Given the description of an element on the screen output the (x, y) to click on. 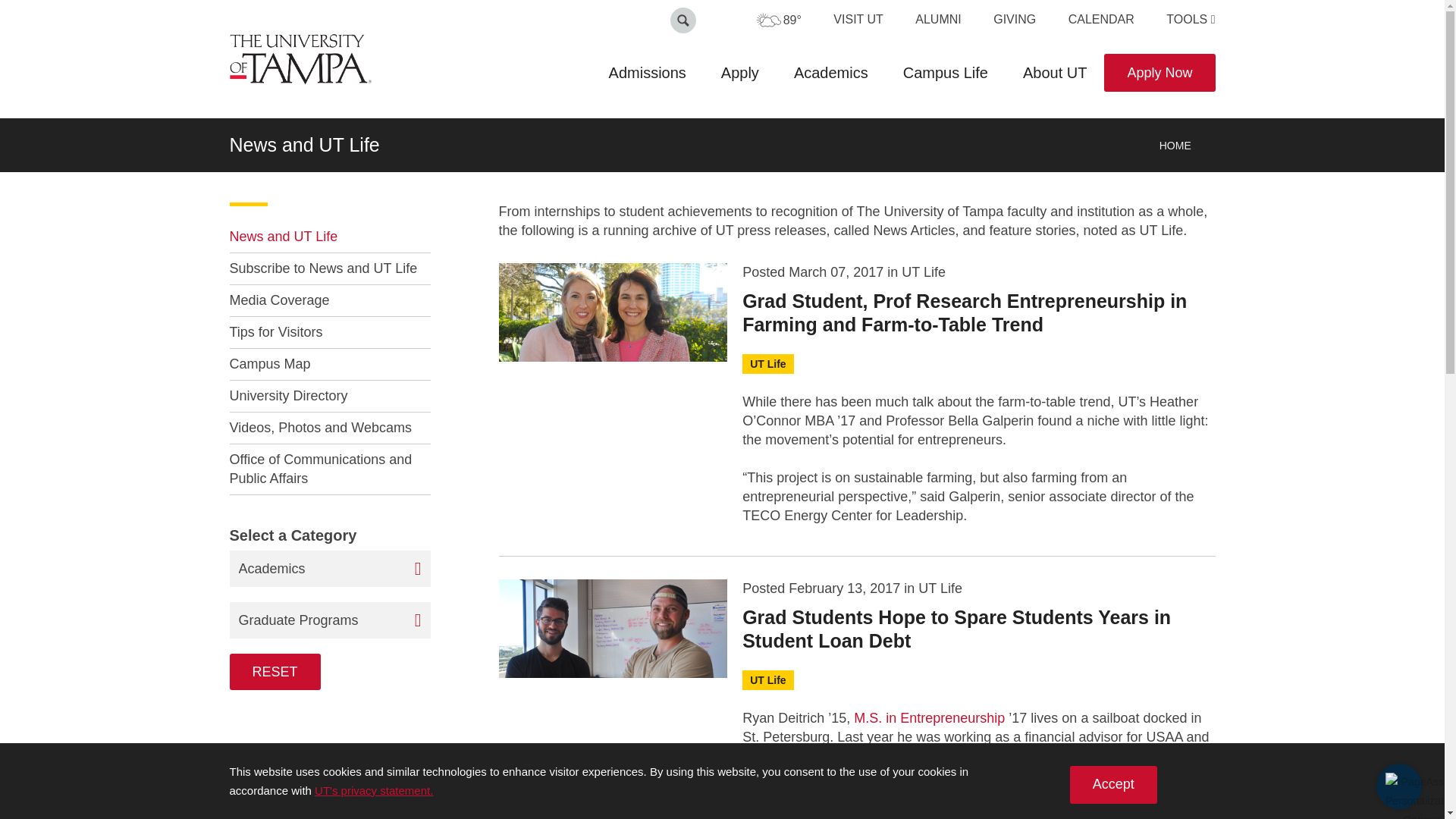
Academics (830, 72)
GIVING (1013, 19)
VISIT UT (857, 19)
Calendar (1101, 19)
ALUMNI (937, 19)
Giving (1013, 19)
Alumni (937, 19)
UT's privacy statement. (373, 789)
Apply (739, 72)
Accept (1113, 784)
Visit UT (857, 19)
Admissions (647, 72)
CALENDAR (1101, 19)
Campus Life (945, 72)
Admissions (647, 72)
